Given the description of an element on the screen output the (x, y) to click on. 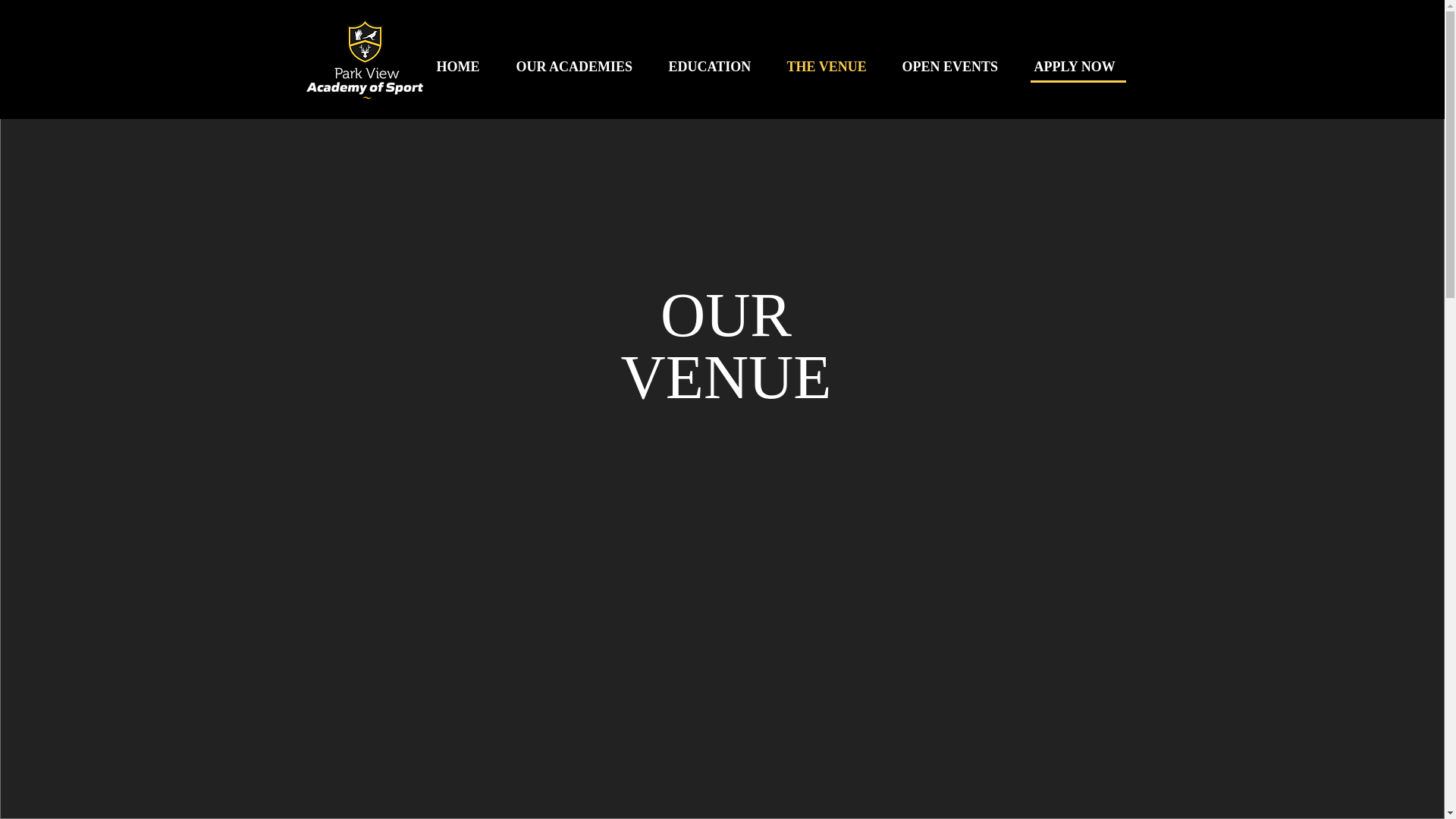
HOME (464, 66)
THE VENUE (831, 66)
EDUCATION (715, 66)
OUR ACADEMIES (581, 66)
OPEN EVENTS (955, 66)
APPLY NOW (1080, 66)
